Given the description of an element on the screen output the (x, y) to click on. 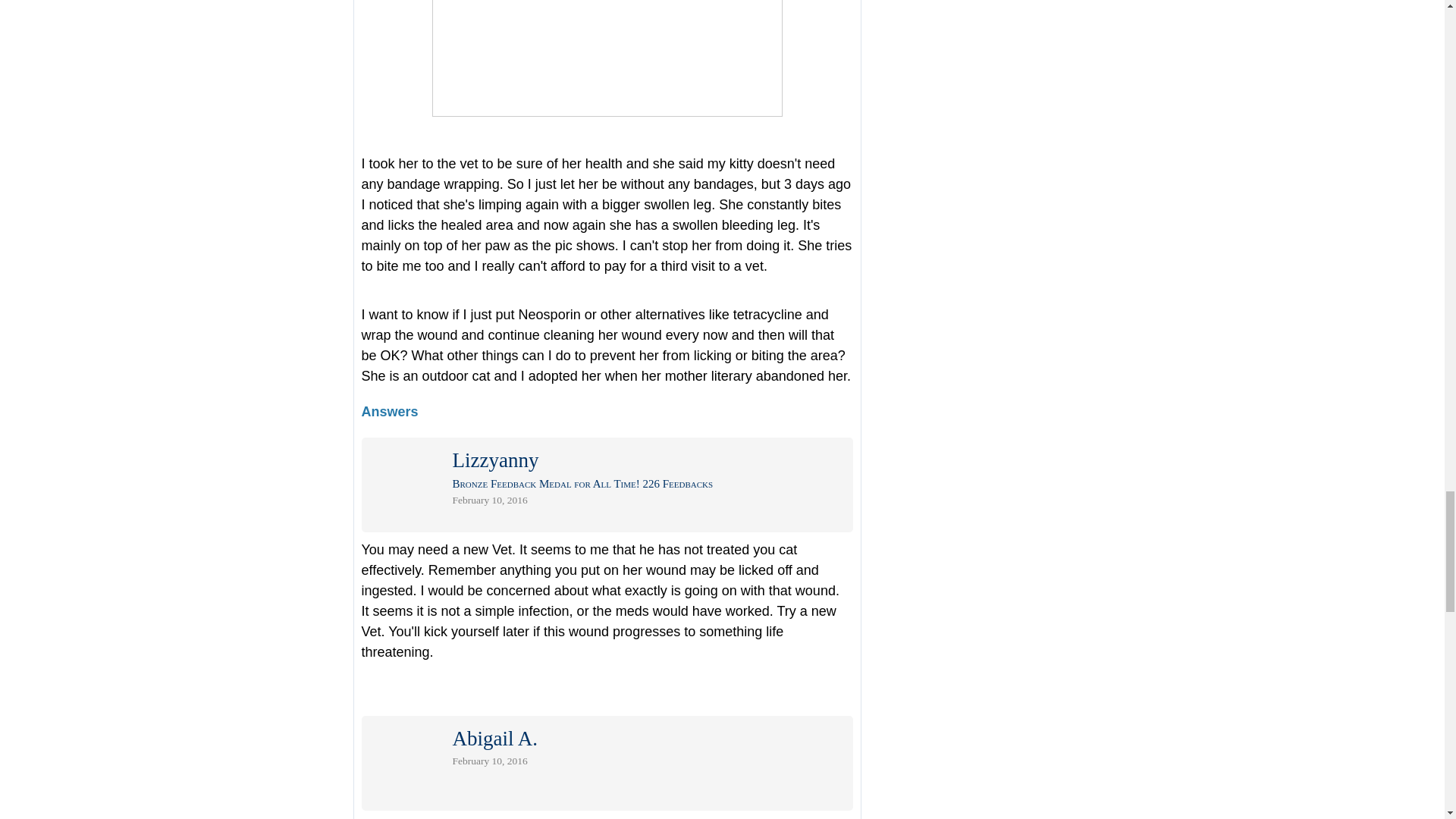
Abigail A. (494, 741)
Lizzyanny (494, 463)
